Given the description of an element on the screen output the (x, y) to click on. 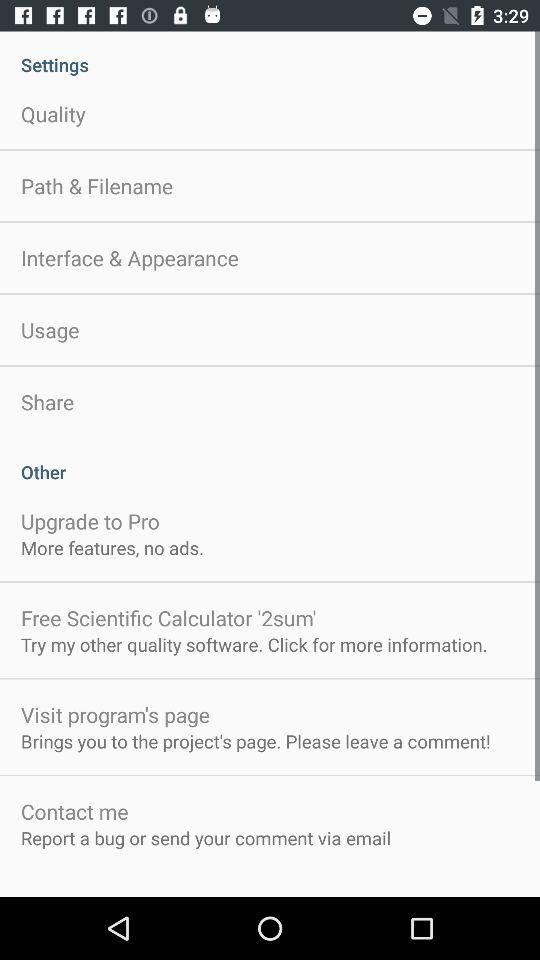
open the path & filename item (97, 185)
